Given the description of an element on the screen output the (x, y) to click on. 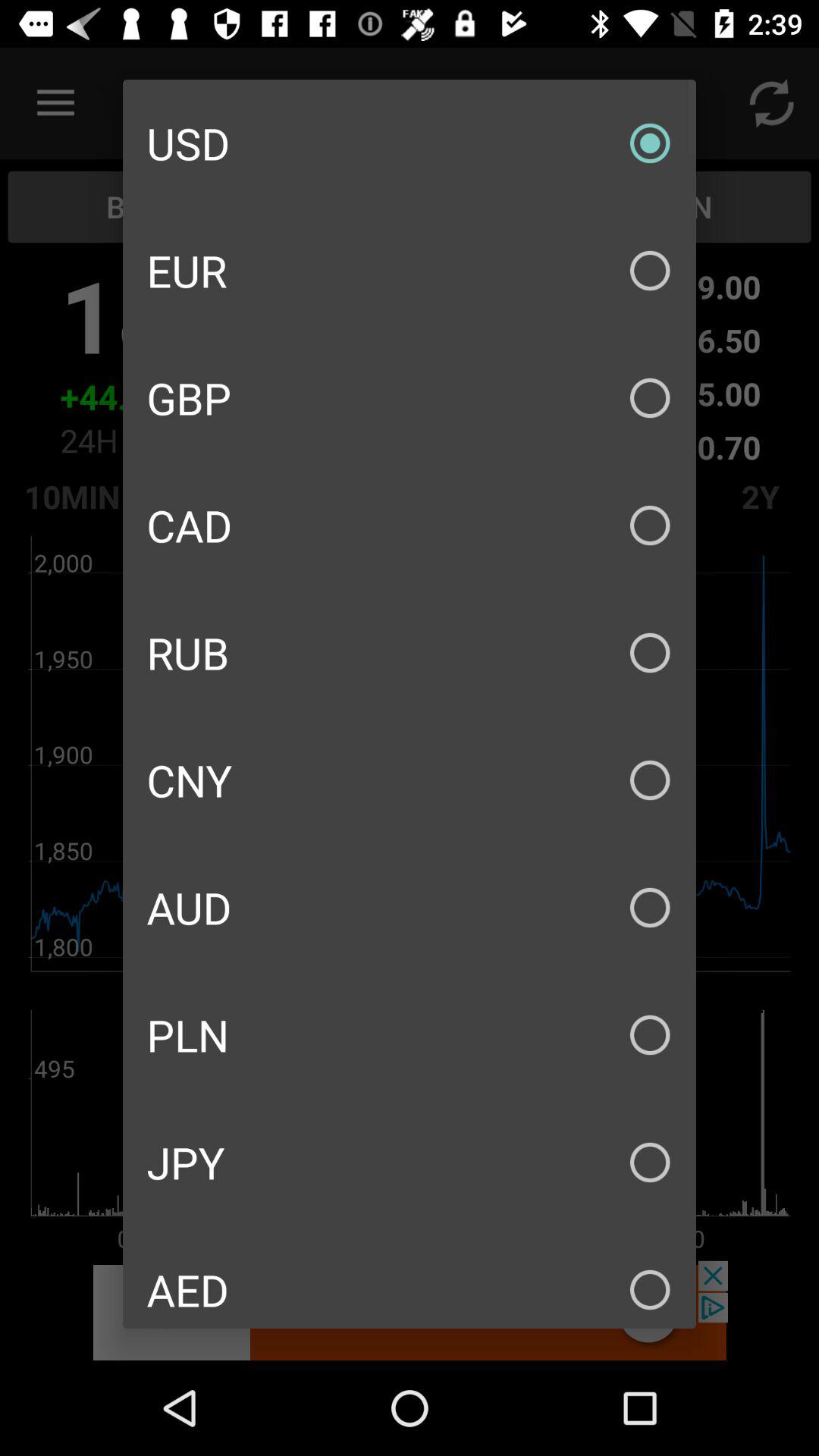
jump until the pln icon (409, 1034)
